Given the description of an element on the screen output the (x, y) to click on. 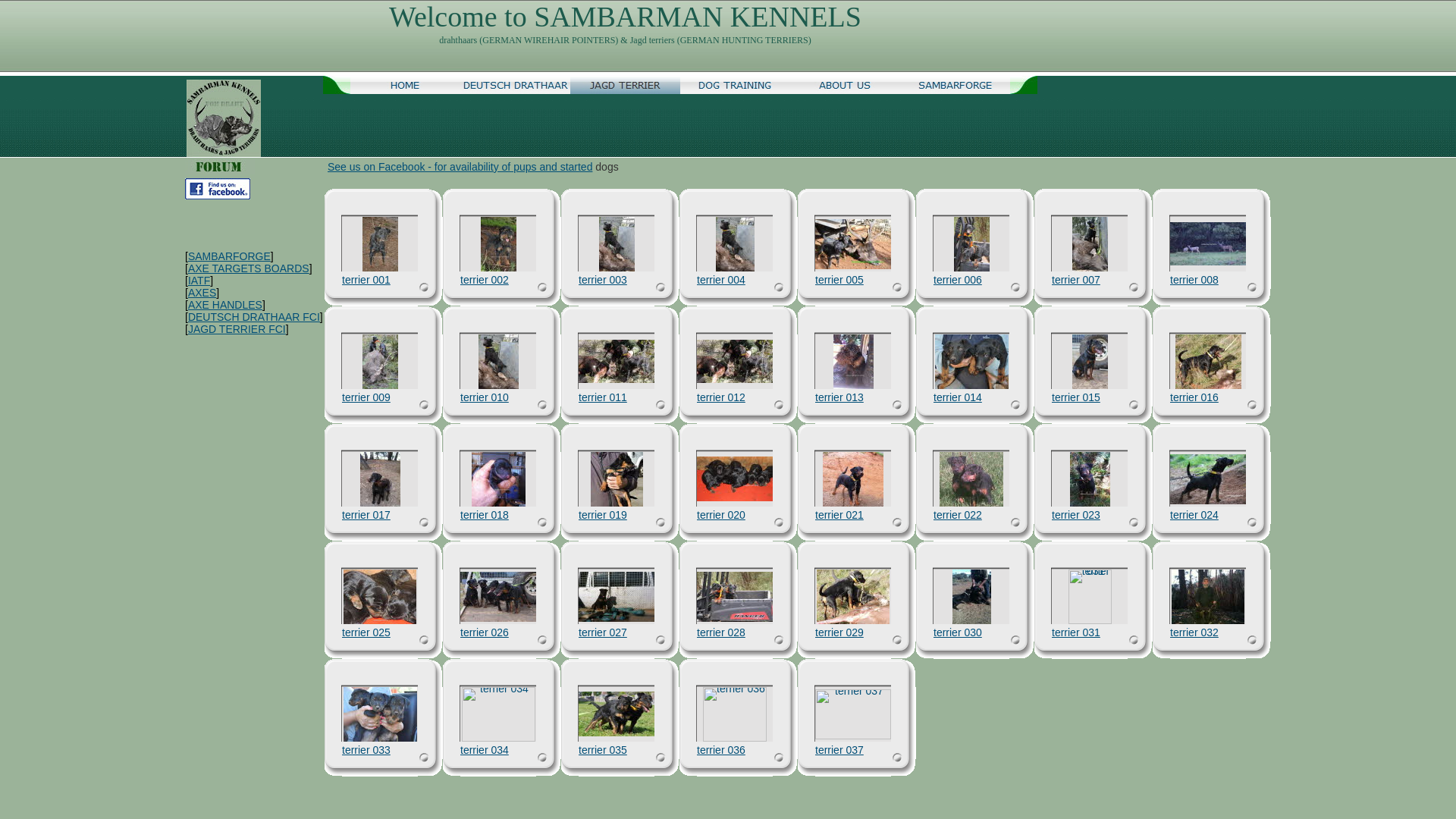
terrier 027 Element type: text (602, 632)
terrier 002 Element type: hover (498, 243)
AXE HANDLES Element type: text (225, 304)
terrier 030 Element type: text (957, 632)
terrier 005 Element type: hover (853, 244)
terrier 011 Element type: hover (616, 360)
terrier 002 Element type: text (484, 279)
terrier 036 Element type: hover (734, 714)
HOME Element type: hover (405, 84)
terrier 010 Element type: hover (497, 361)
sambarman kennels Element type: hover (223, 117)
terrier 017 Element type: hover (379, 478)
terrier 012 Element type: hover (734, 360)
terrier 024 Element type: hover (1207, 479)
IATF Element type: text (199, 280)
terrier 033 Element type: text (366, 749)
terrier 029 Element type: text (839, 632)
DEUTSCH DRATHAAR FCI Element type: text (254, 316)
terrier 008 Element type: text (1194, 279)
terrier 032 Element type: text (1194, 632)
terrier 025 Element type: text (366, 632)
terrier 020 Element type: hover (734, 478)
terrier 037 Element type: text (839, 749)
terrier 021 Element type: hover (852, 478)
terrier 036 Element type: text (720, 749)
terrier 022 Element type: text (957, 514)
terrier 018 Element type: text (484, 514)
terrier 010 Element type: text (484, 397)
terrier 009 Element type: hover (380, 361)
terrier 013 Element type: text (839, 397)
terrier 018 Element type: hover (498, 478)
terrier 026 Element type: text (484, 632)
terrier 023 Element type: hover (1089, 478)
terrier 033 Element type: hover (379, 714)
terrier 034 Element type: text (484, 749)
terrier 003 Element type: text (602, 279)
terrier 009 Element type: text (366, 397)
JAGD TERRIER Element type: hover (625, 84)
terrier 014 Element type: hover (970, 361)
SAMBARFORGE Element type: hover (955, 84)
terrier 028 Element type: hover (734, 596)
terrier 011 Element type: text (602, 397)
AXES Element type: text (202, 292)
terrier 017 Element type: text (366, 514)
terrier 012 Element type: text (720, 397)
AXE TARGETS BOARDS Element type: text (248, 268)
terrier 004 Element type: text (720, 279)
terrier 001 Element type: text (366, 279)
terrier 005 Element type: text (839, 279)
terrier 031 Element type: text (1075, 632)
terrier 004 Element type: hover (734, 243)
terrier 006 Element type: hover (971, 243)
terrier 034 Element type: hover (497, 714)
JAGD TERRIER FCI Element type: text (236, 329)
terrier 037 Element type: hover (853, 714)
terrier 006 Element type: text (957, 279)
facebook Element type: hover (217, 188)
terrier 029 Element type: hover (852, 596)
terrier 023 Element type: text (1075, 514)
terrier 035 Element type: text (602, 749)
terrier 030 Element type: hover (971, 596)
terrier 013 Element type: hover (852, 361)
forum Element type: hover (219, 166)
terrier 019 Element type: hover (615, 478)
See us on Facebook - for availability of pups and started Element type: text (459, 166)
terrier 027 Element type: hover (616, 596)
terrier 001 Element type: hover (380, 243)
DEUTSCH DRATHAAR Element type: hover (515, 84)
terrier 020 Element type: text (720, 514)
terrier 019 Element type: text (602, 514)
terrier 021 Element type: text (839, 514)
terrier 031 Element type: hover (1088, 596)
terrier 026 Element type: hover (498, 596)
terrier 035 Element type: hover (616, 713)
terrier 016 Element type: text (1194, 397)
terrier 022 Element type: hover (971, 478)
terrier 016 Element type: hover (1208, 361)
SAMBARFORGE Element type: text (229, 256)
terrier 014 Element type: text (957, 397)
terrier 024 Element type: text (1194, 514)
terrier 025 Element type: hover (379, 596)
terrier 032 Element type: hover (1207, 596)
DOG TRAINING Element type: hover (735, 84)
terrier 008 Element type: hover (1207, 243)
terrier 015 Element type: text (1075, 397)
terrier 007 Element type: text (1075, 279)
terrier 003 Element type: hover (616, 243)
terrier 028 Element type: text (720, 632)
terrier 015 Element type: hover (1089, 361)
ABOUT US Element type: hover (845, 84)
terrier 007 Element type: hover (1089, 243)
